Given the description of an element on the screen output the (x, y) to click on. 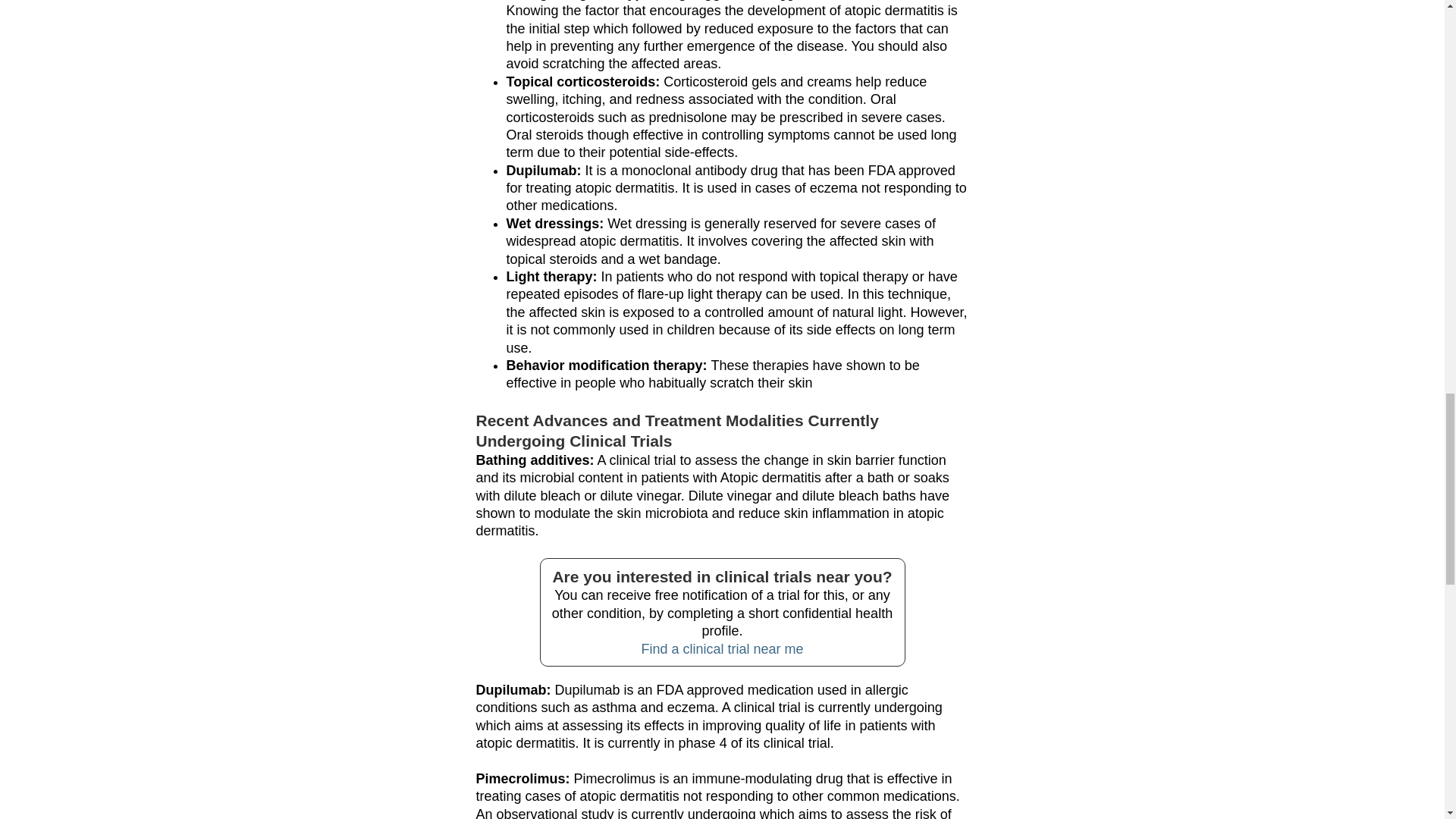
Find a clinical trial near me (721, 648)
